Given the description of an element on the screen output the (x, y) to click on. 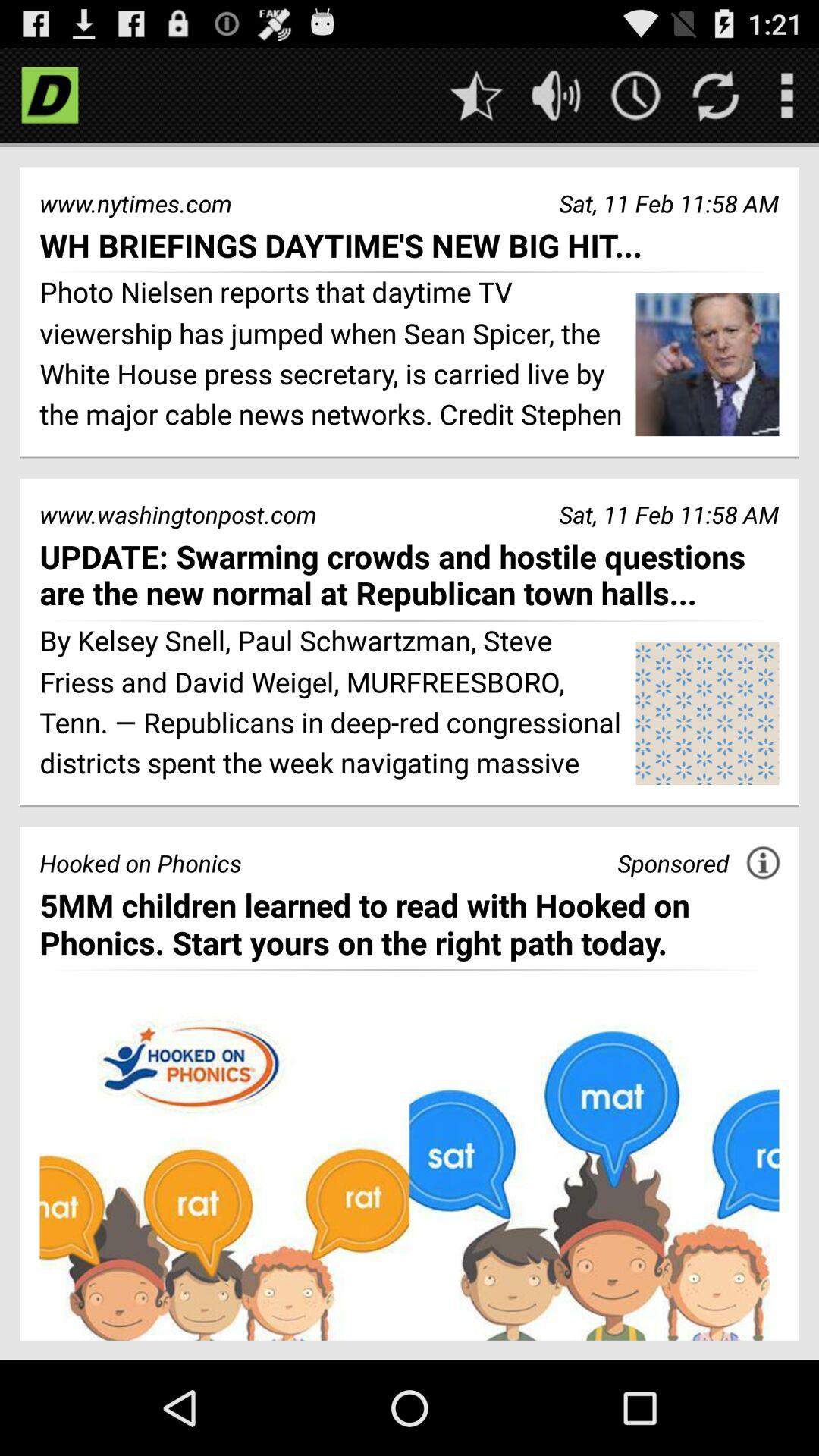
flip until the 5mm children learned icon (409, 924)
